Given the description of an element on the screen output the (x, y) to click on. 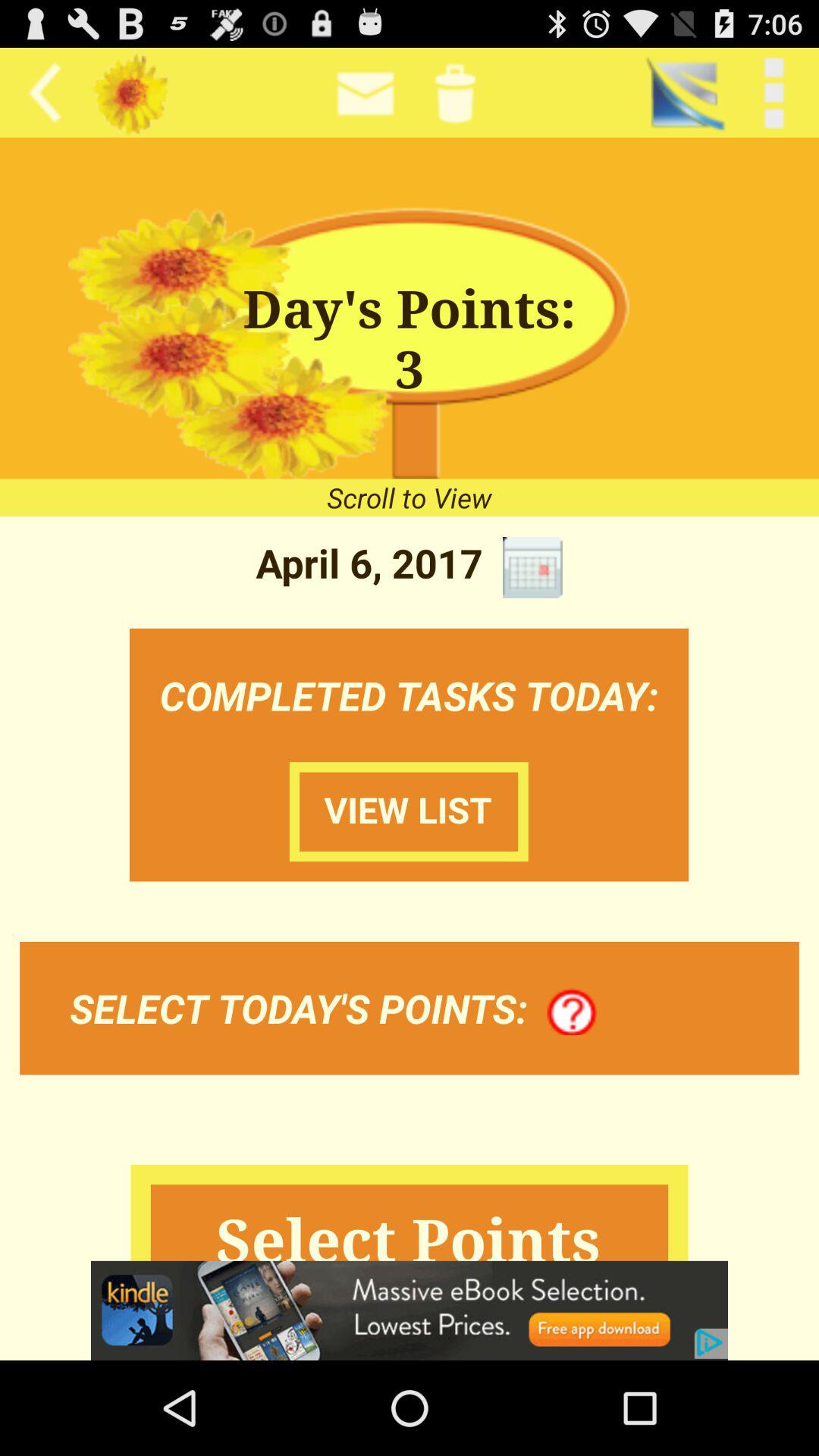
add to calender (532, 567)
